Given the description of an element on the screen output the (x, y) to click on. 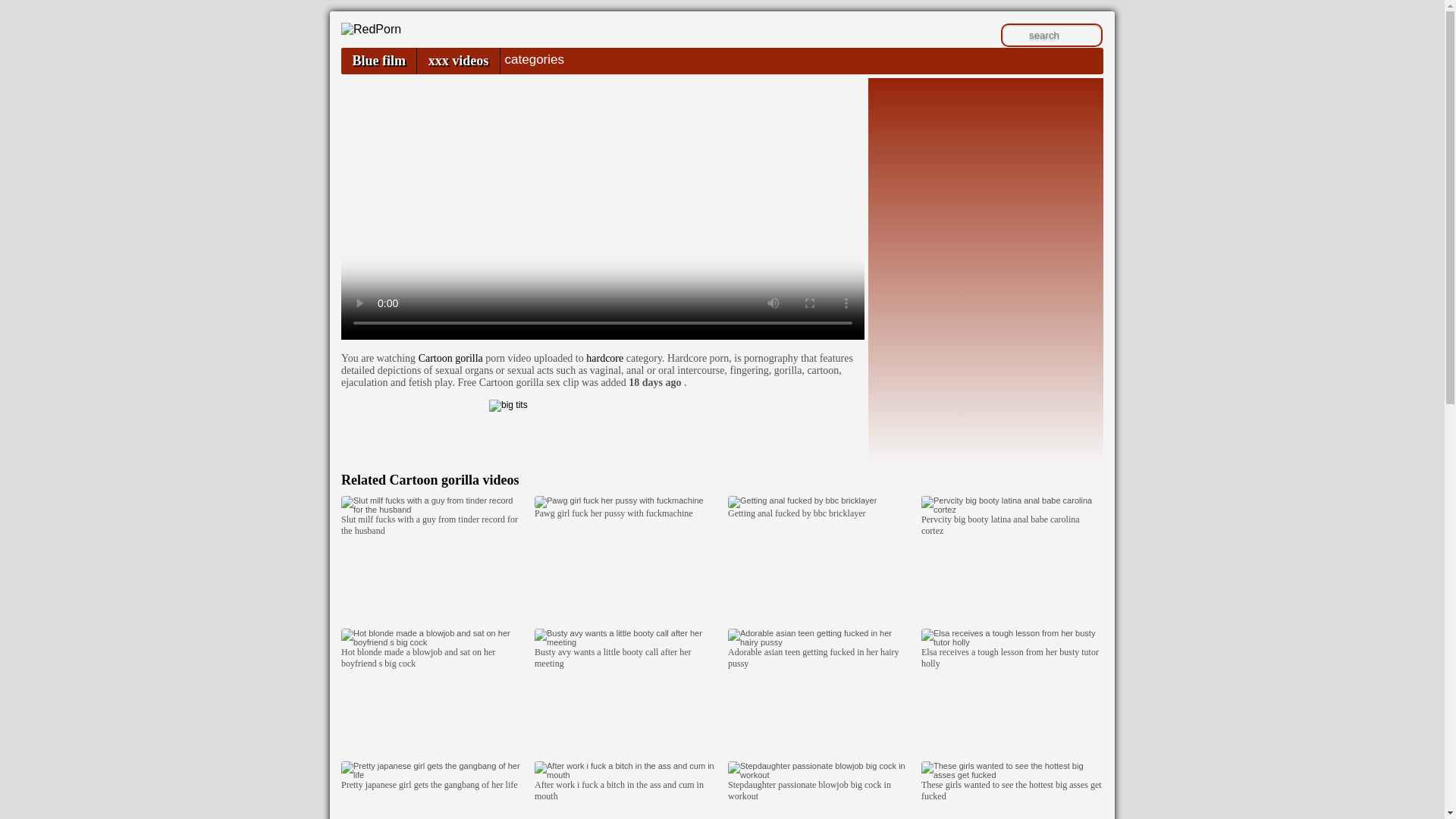
hardcore (604, 357)
Blue film (378, 60)
Cartoon gorilla videos (453, 479)
xxx videos (457, 60)
xxx videos (457, 60)
categories (533, 59)
Indian Porn (370, 29)
Cartoon gorilla (451, 357)
Blue film (378, 60)
